Given the description of an element on the screen output the (x, y) to click on. 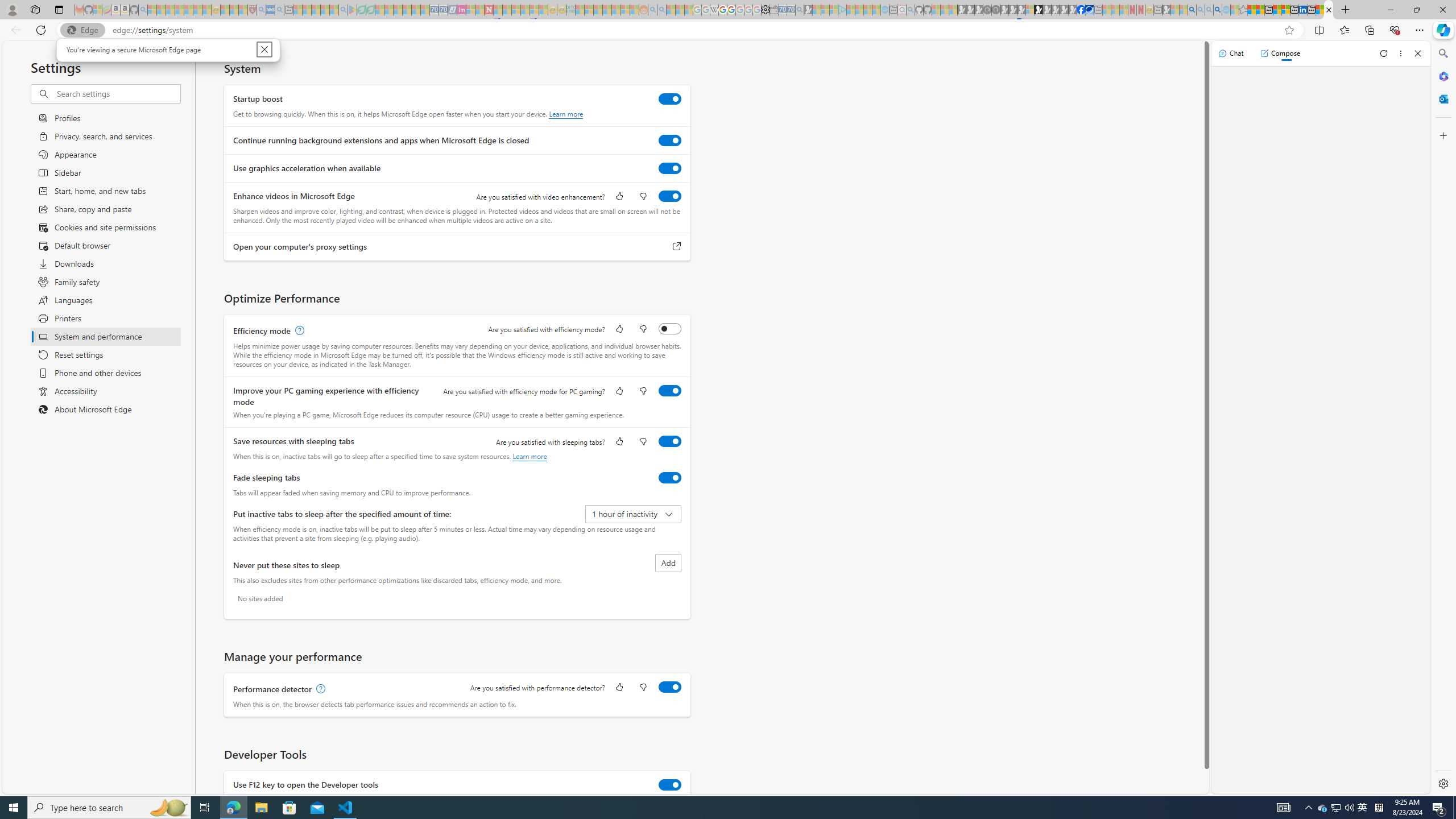
Startup boost (669, 98)
Efficiency mode (669, 328)
Add site to never put these sites to sleep list (668, 562)
Tray Input Indicator - Chinese (Simplified, China) (1378, 807)
Bing AI - Search (1191, 9)
Compose (1279, 52)
Google Chrome Internet Browser Download - Search Images (1217, 9)
